Given the description of an element on the screen output the (x, y) to click on. 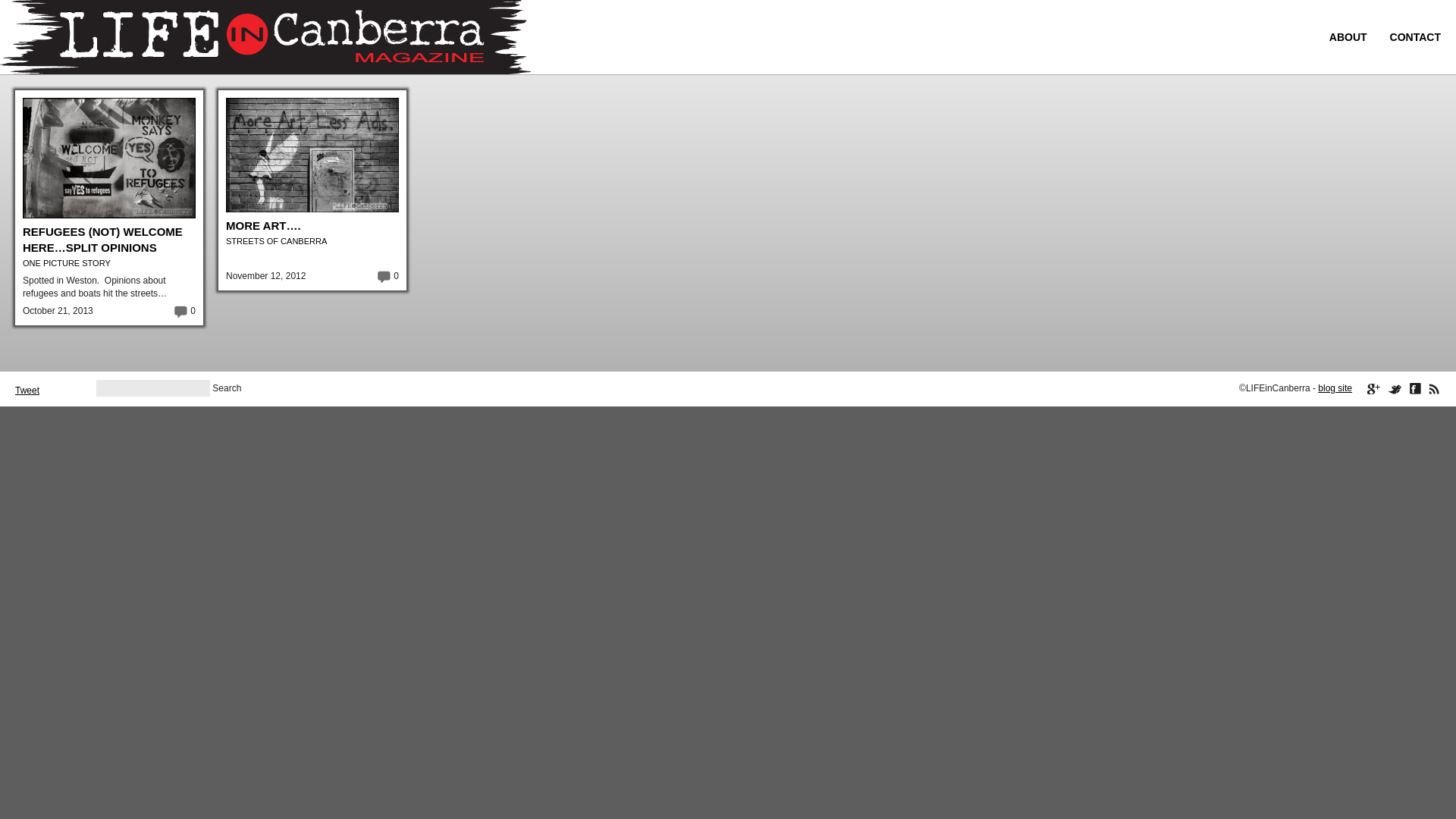
ABOUT Element type: text (1348, 37)
Tweet Element type: text (27, 390)
Search Element type: text (226, 387)
STREETS OF CANBERRA Element type: text (275, 240)
blog site Element type: text (1334, 387)
ONE PICTURE STORY Element type: text (66, 262)
0 Element type: text (375, 275)
0 Element type: text (172, 310)
CONTACT Element type: text (1415, 37)
